Given the description of an element on the screen output the (x, y) to click on. 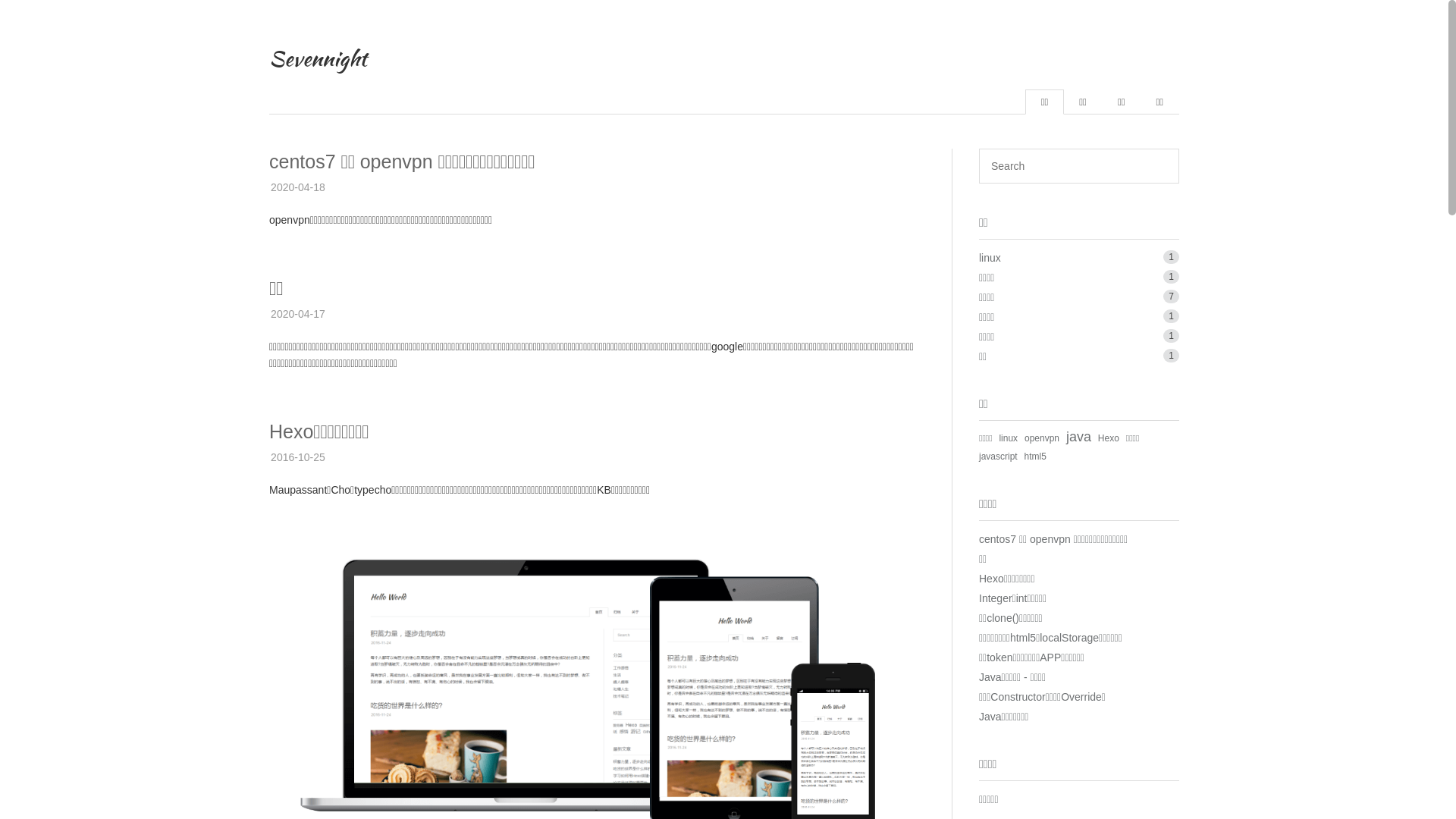
html5 Element type: text (1035, 456)
openvpn Element type: text (1041, 438)
javascript Element type: text (998, 456)
linux Element type: text (1007, 438)
Sevennight Element type: text (318, 58)
java Element type: text (1078, 436)
Hexo Element type: text (1108, 438)
linux Element type: text (990, 257)
